Given the description of an element on the screen output the (x, y) to click on. 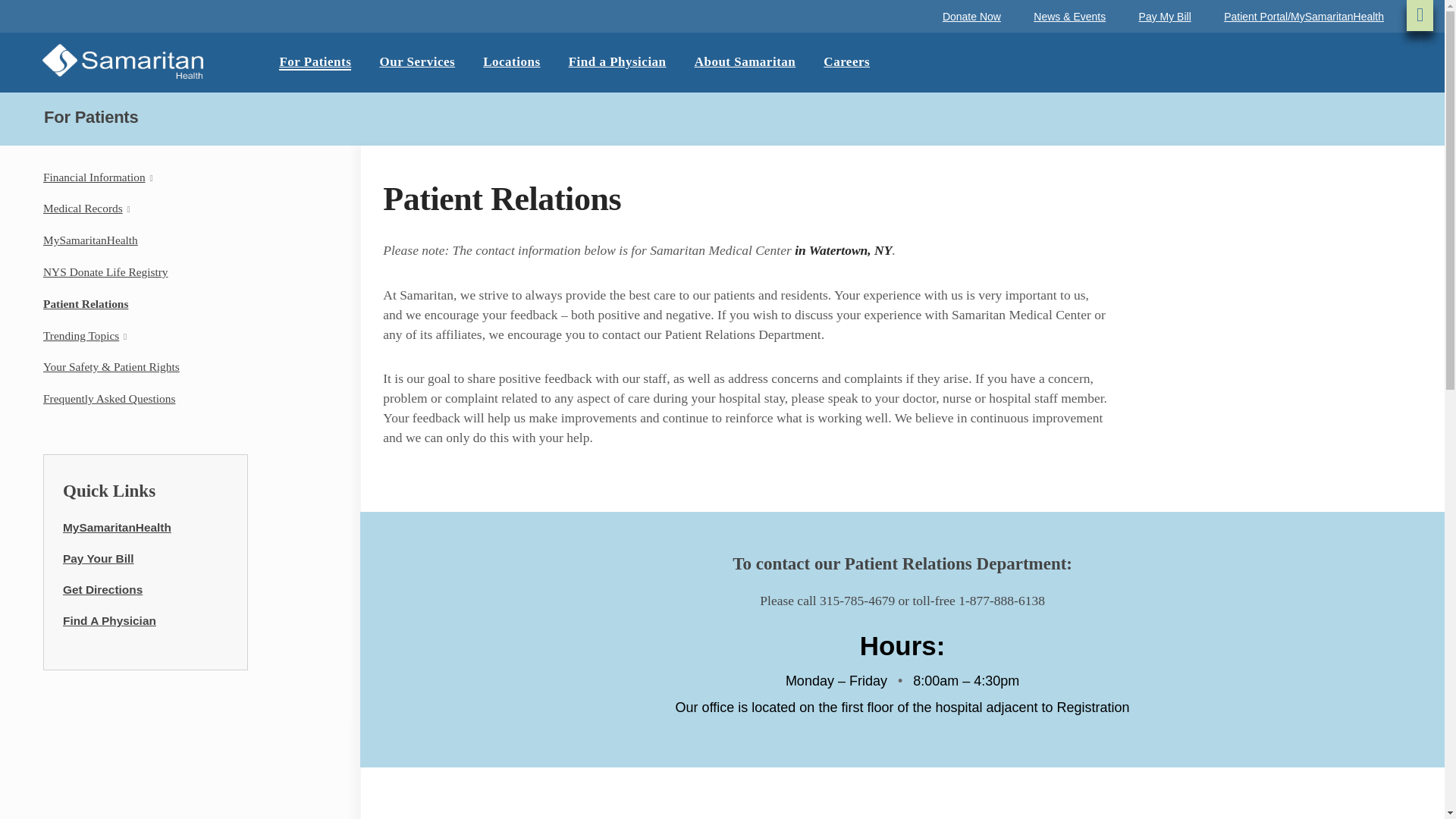
Our Services (416, 62)
Pay My Bill (1164, 16)
For Patients (314, 62)
Donate Now (971, 16)
